Given the description of an element on the screen output the (x, y) to click on. 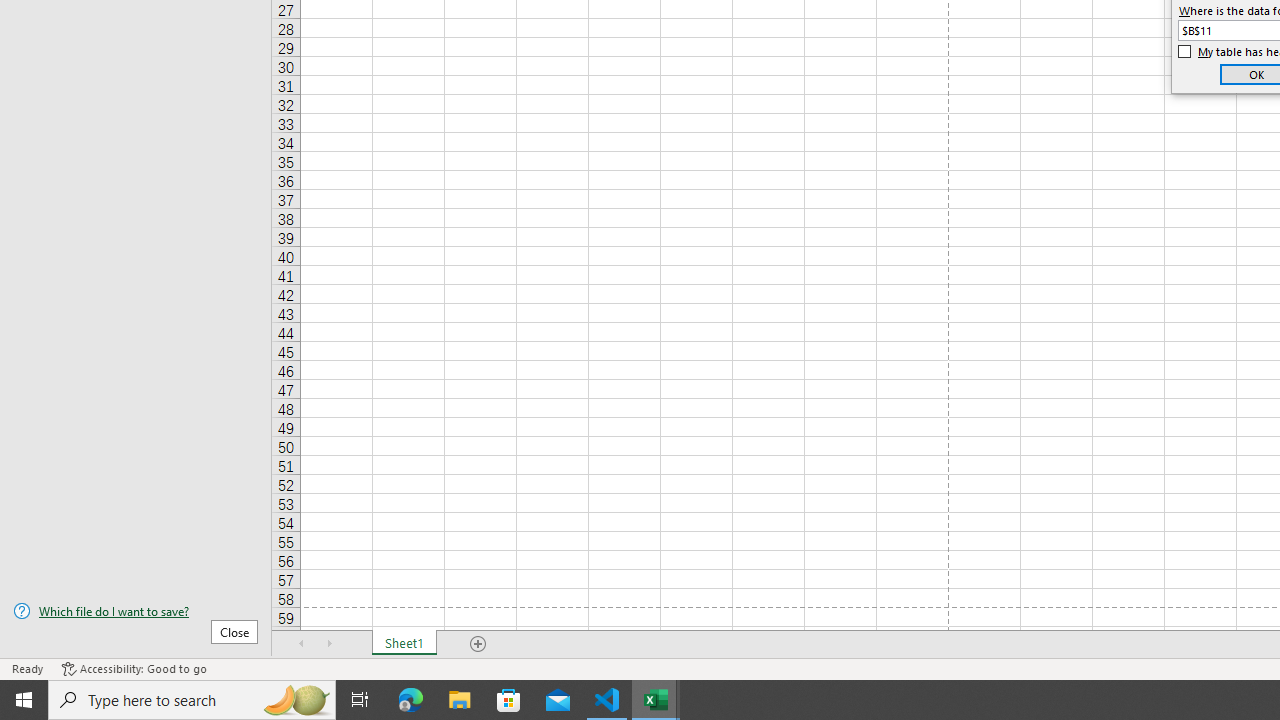
Sheet1 (404, 644)
Add Sheet (478, 644)
Scroll Right (330, 644)
Close (234, 631)
Which file do I want to save? (136, 611)
Scroll Left (302, 644)
Accessibility Checker Accessibility: Good to go (134, 668)
